Given the description of an element on the screen output the (x, y) to click on. 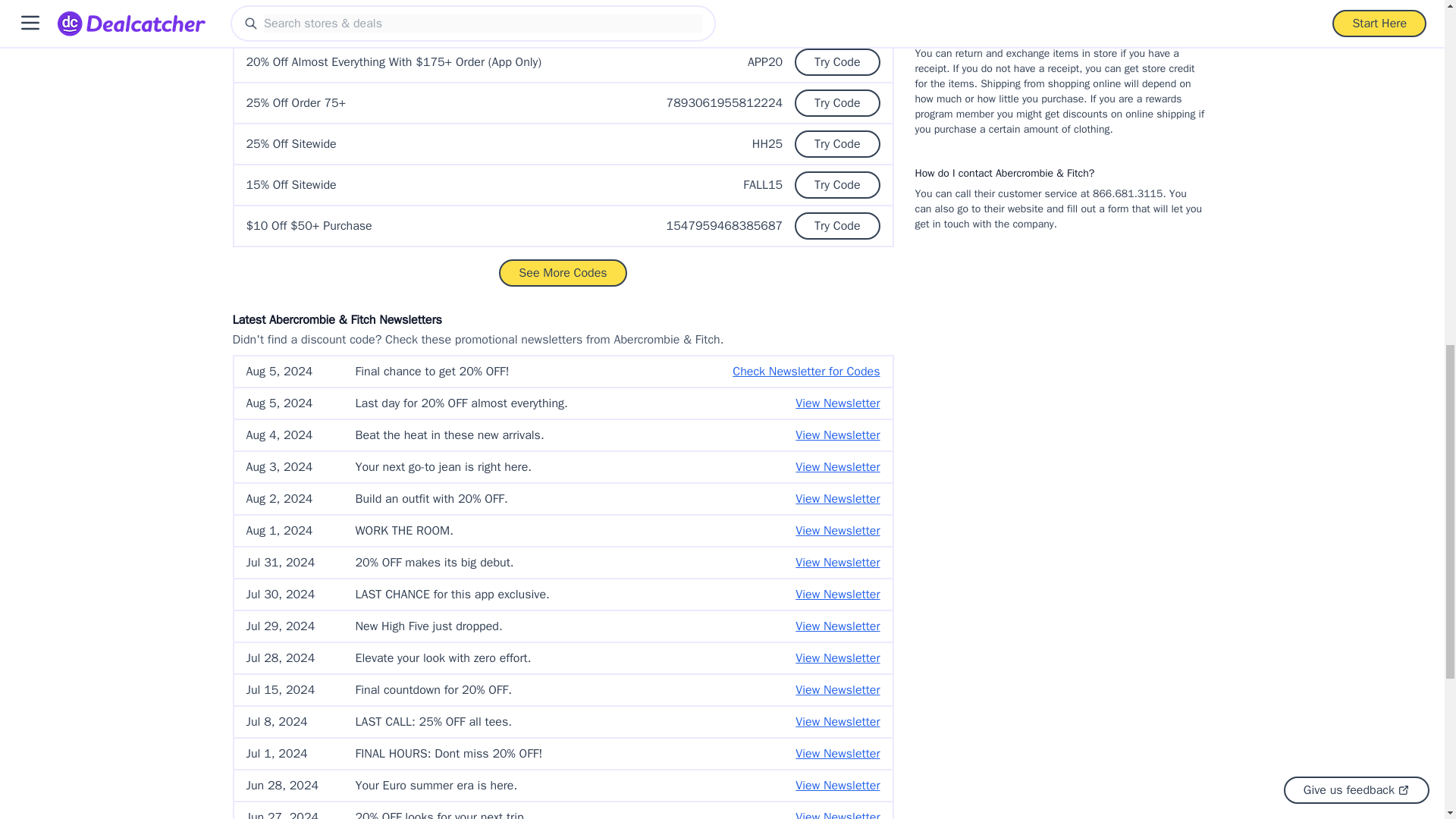
View Newsletter (836, 498)
Check Newsletter for Codes (805, 371)
View Newsletter (836, 466)
See More Codes (562, 272)
View Newsletter (836, 402)
View Newsletter (836, 434)
